Given the description of an element on the screen output the (x, y) to click on. 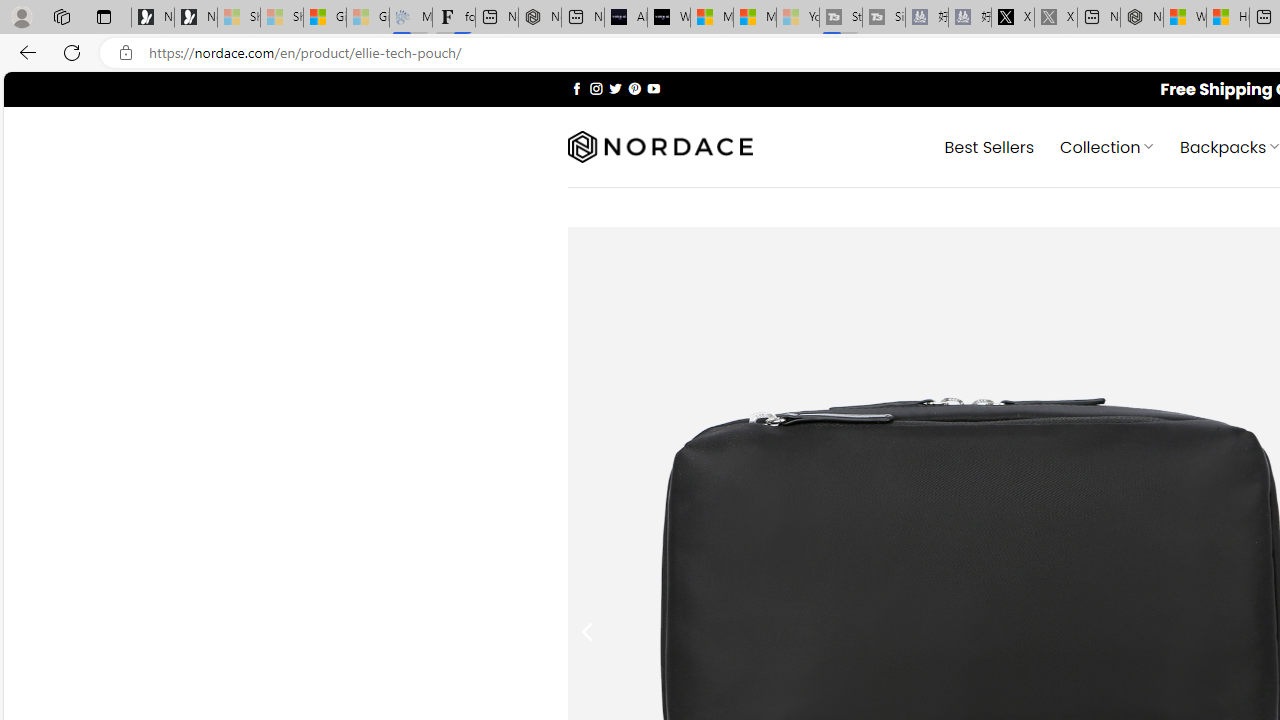
Newsletter Sign Up (196, 17)
Follow on Twitter (615, 88)
 Best Sellers (989, 146)
Nordace - My Account (1142, 17)
